Given the description of an element on the screen output the (x, y) to click on. 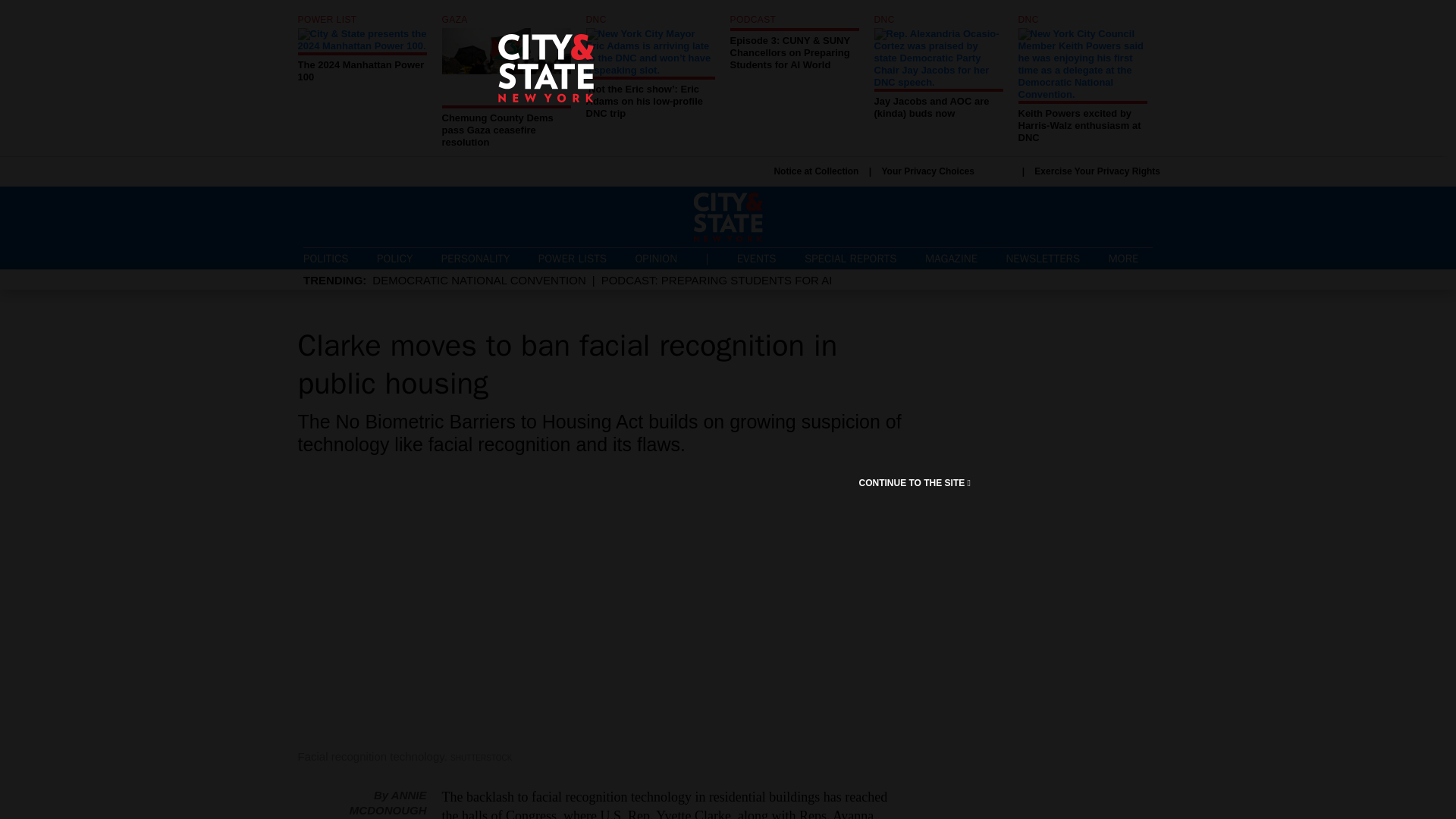
NEWSLETTERS (1043, 258)
PERSONALITY (505, 81)
MAGAZINE (476, 258)
MORE (950, 258)
3rd party ad content (1130, 258)
POWER LISTS (816, 171)
POLITICS (572, 258)
Your Privacy Choices (325, 258)
